Given the description of an element on the screen output the (x, y) to click on. 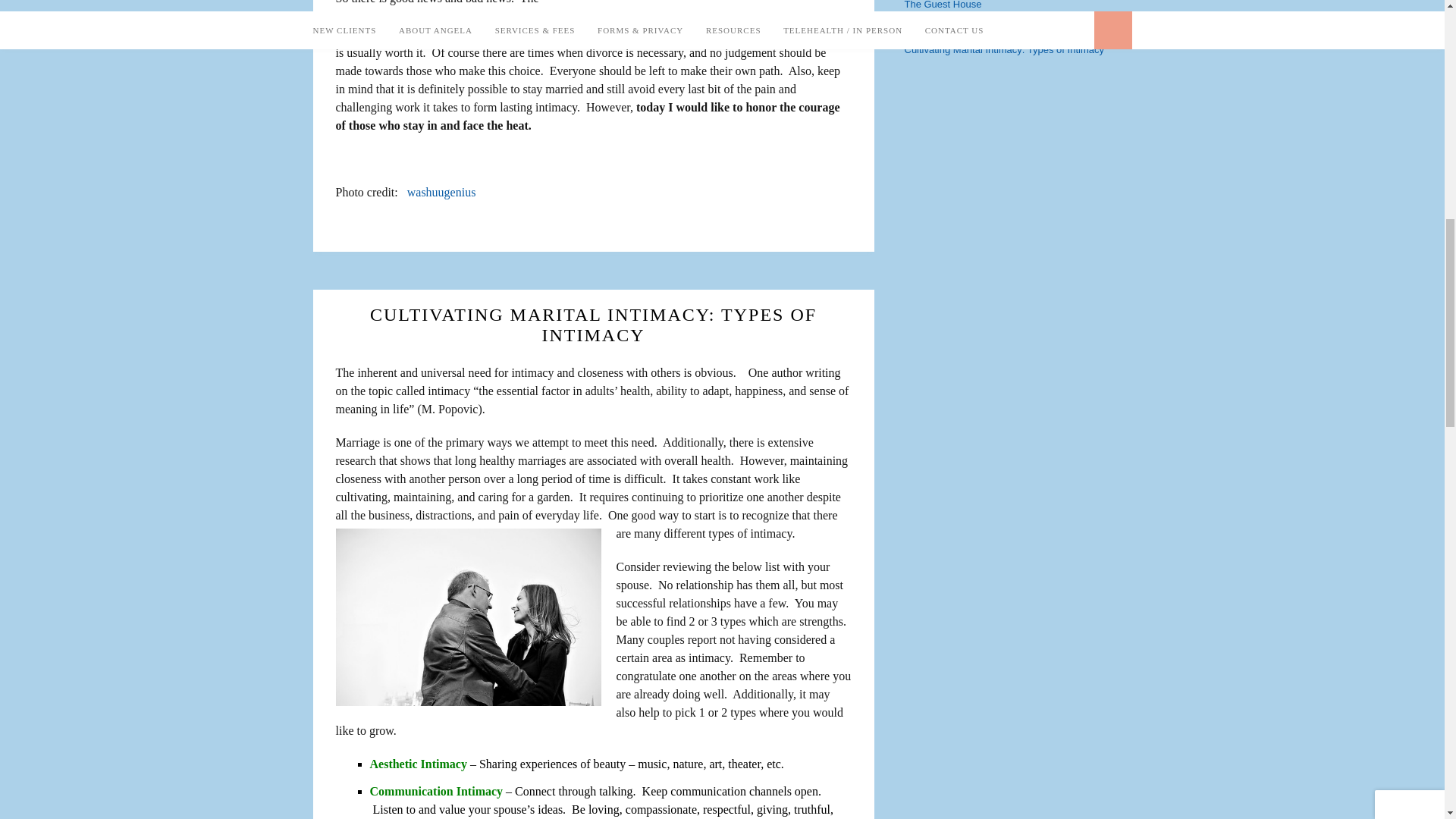
The Guest House (942, 4)
CULTIVATING MARITAL INTIMACY: TYPES OF INTIMACY (592, 324)
washuugenius (441, 192)
Maintaining Marital Intimacy when Life Gets Busy (1011, 26)
